Given the description of an element on the screen output the (x, y) to click on. 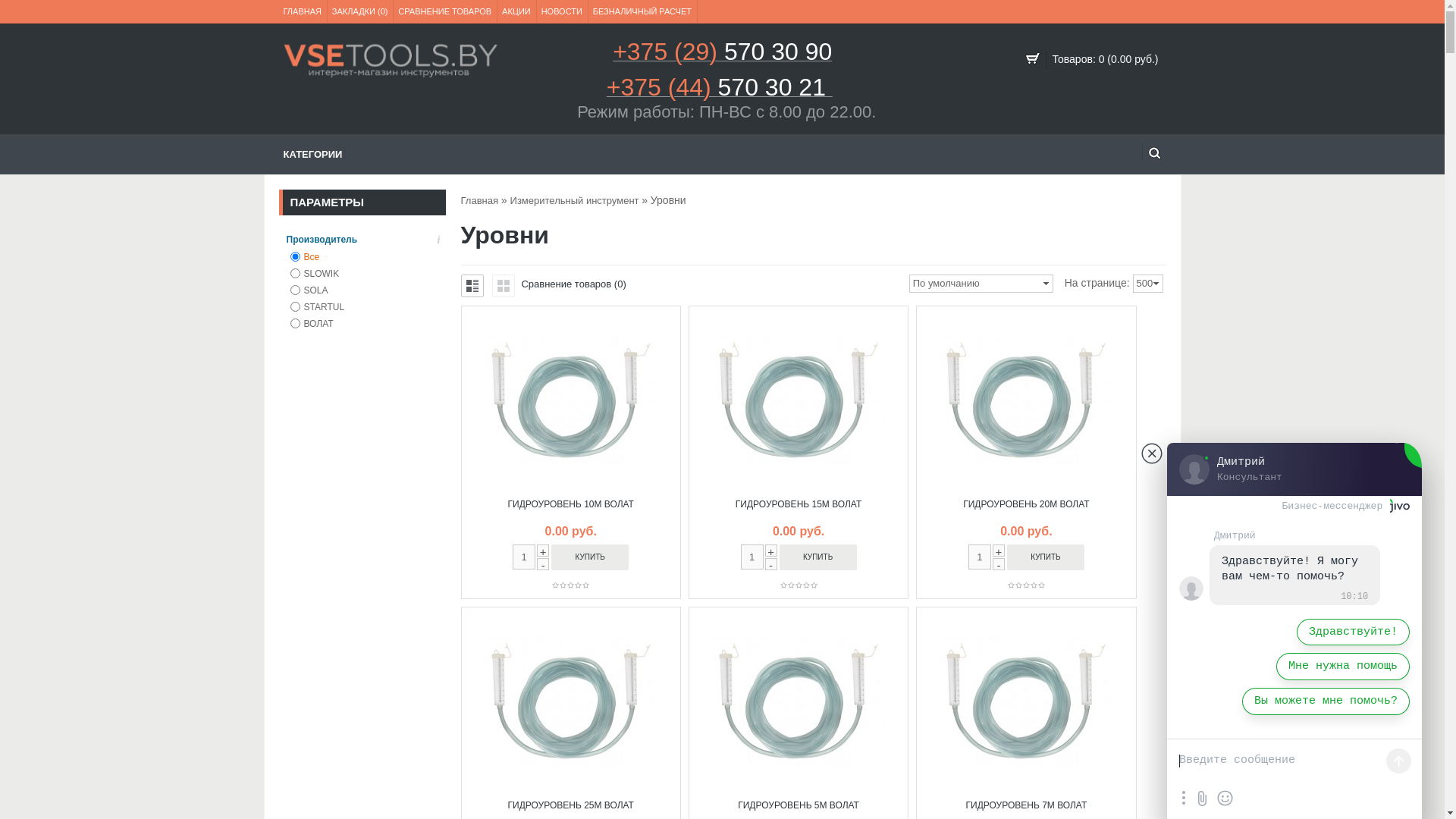
+375 (44) 570 30 21  Element type: text (719, 91)
- Element type: text (771, 564)
- Element type: text (542, 564)
- Element type: text (998, 564)
+ Element type: text (542, 550)
+ Element type: text (771, 550)
+375 (29) 570 30 90 Element type: text (721, 56)
+ Element type: text (998, 550)
